Given the description of an element on the screen output the (x, y) to click on. 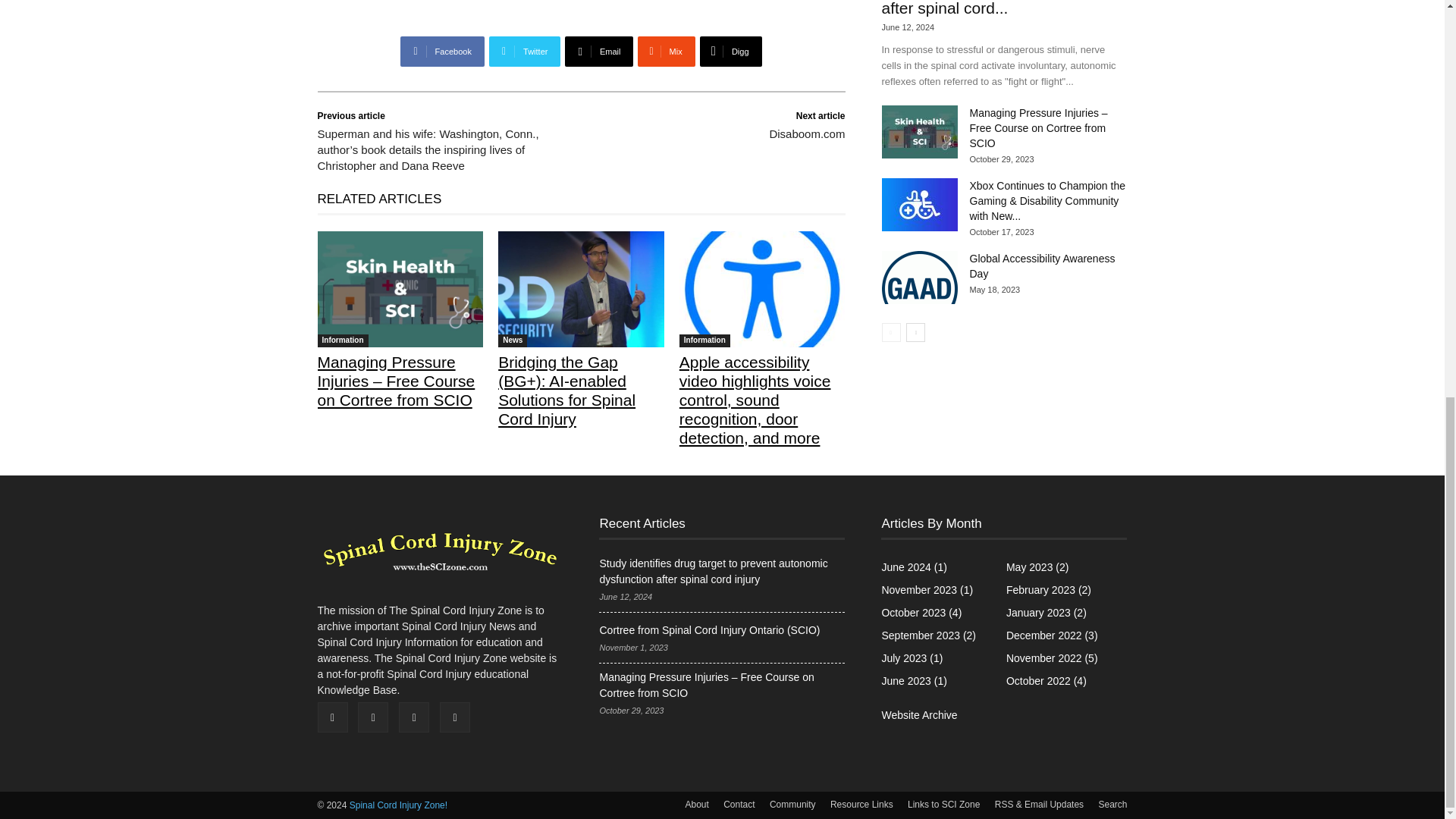
Facebook (441, 51)
Digg (730, 51)
Disaboom.com (806, 133)
Mix (665, 51)
Email (598, 51)
Twitter (524, 51)
